Given the description of an element on the screen output the (x, y) to click on. 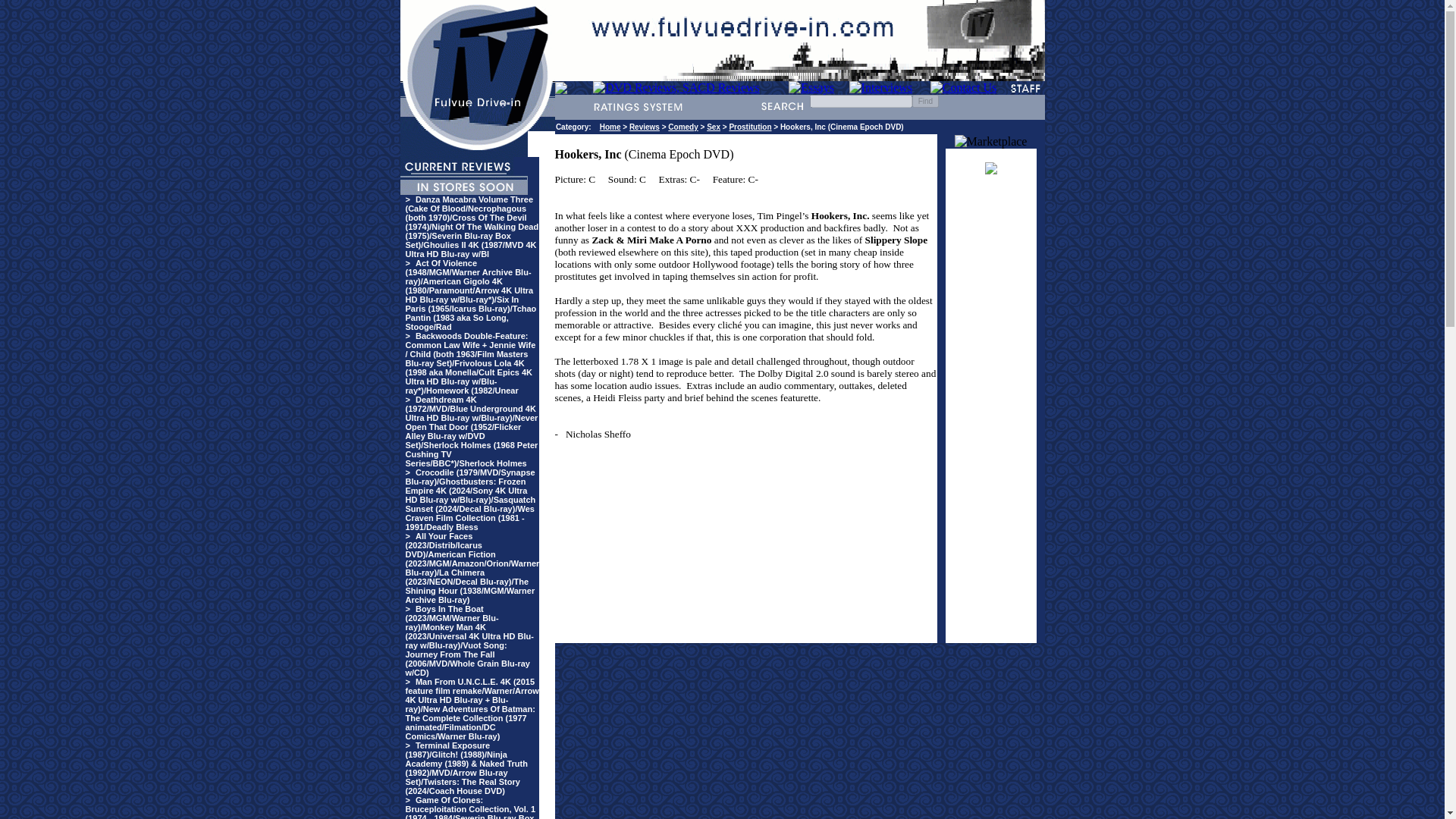
Find (925, 101)
Find (925, 101)
Reviews (643, 126)
Home (610, 126)
